Given the description of an element on the screen output the (x, y) to click on. 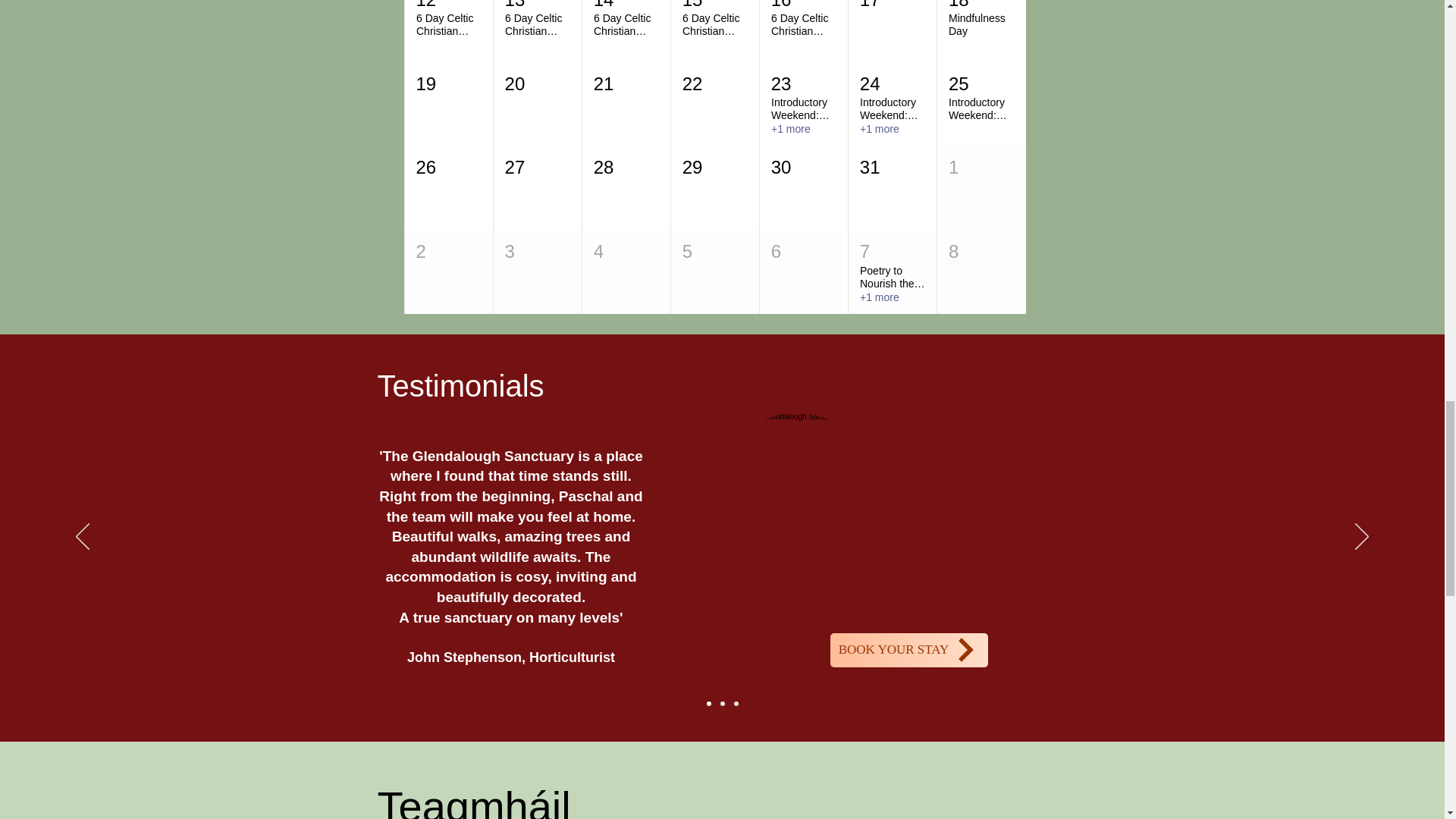
GettyImages-124893619.jpg (796, 488)
BOOK YOUR STAY (908, 650)
